Given the description of an element on the screen output the (x, y) to click on. 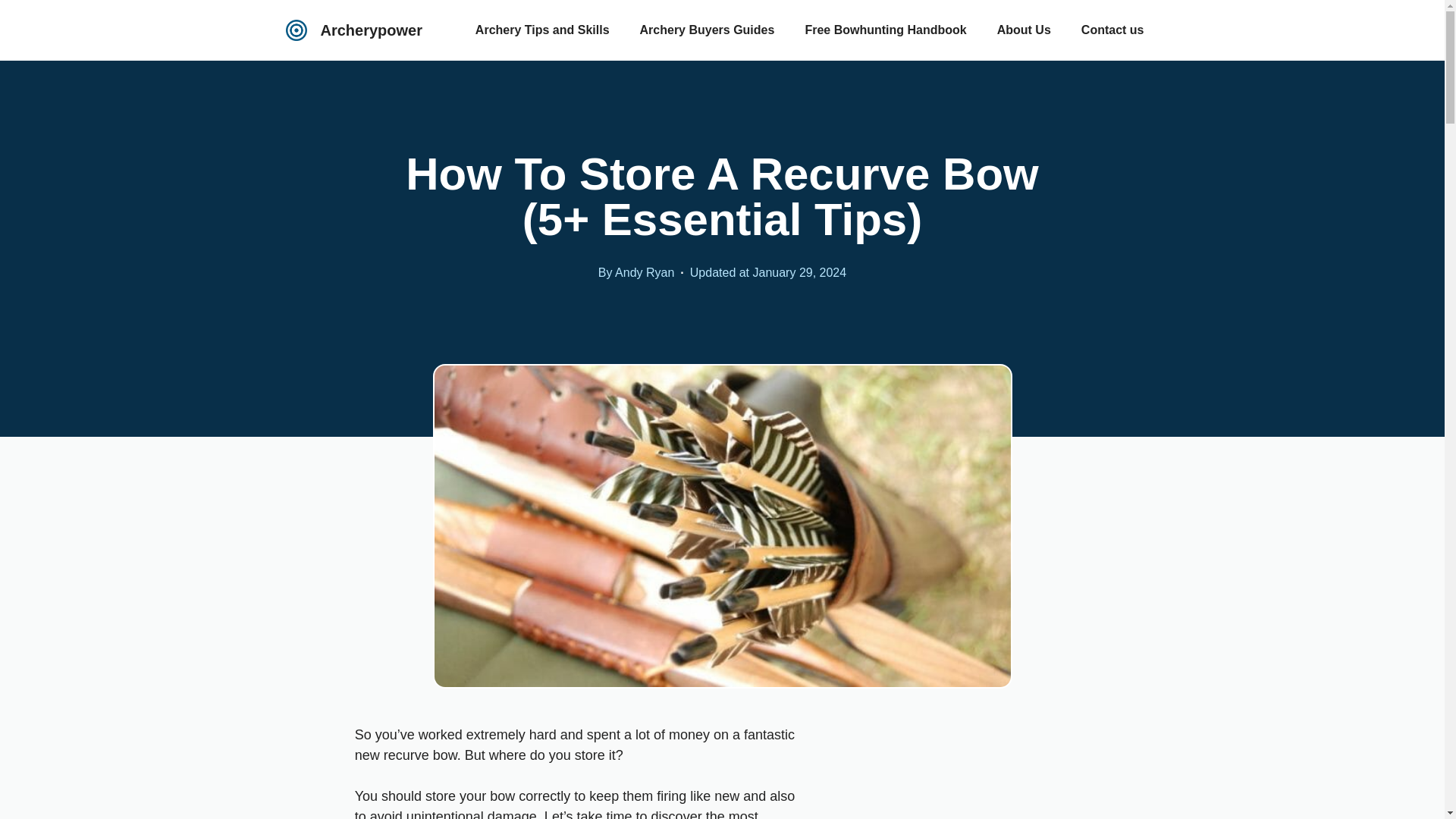
About Us (1023, 30)
Archerypower (371, 30)
Contact us (1111, 30)
Archery Tips and Skills (542, 30)
Free Bowhunting Handbook (885, 30)
Archery Buyers Guides (707, 30)
